Given the description of an element on the screen output the (x, y) to click on. 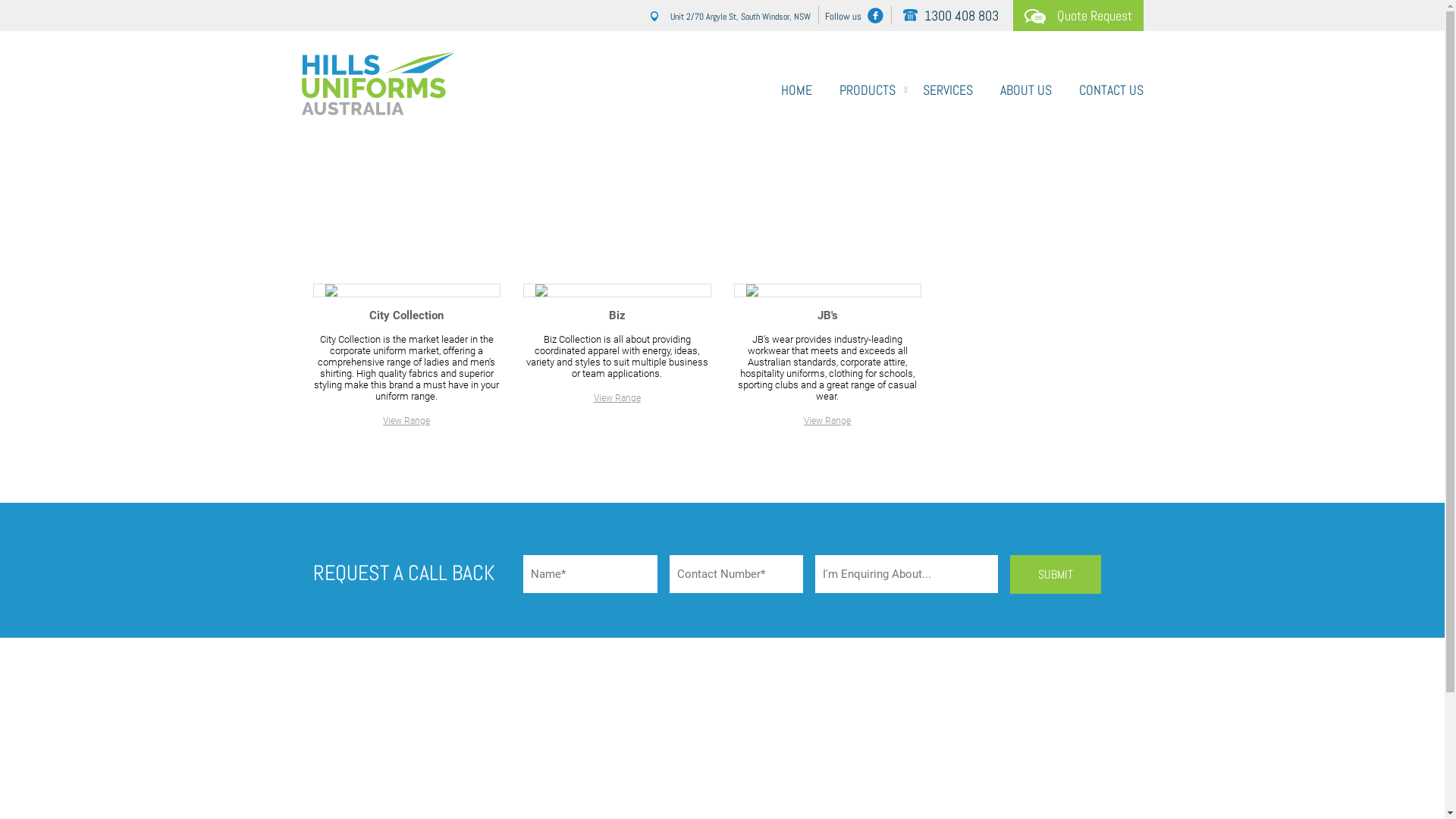
Follow us Element type: text (858, 15)
SERVICES Element type: text (947, 85)
1300 408 803 Element type: text (950, 15)
Unit 2/70 Argyle St, South Windsor, NSW Element type: text (732, 15)
View Range Element type: text (616, 397)
PRODUCTS Element type: text (866, 85)
Products Element type: text (639, 193)
ABOUT US Element type: text (1025, 85)
View Range Element type: text (405, 420)
Health & Hospitality Element type: text (705, 193)
Home Element type: text (601, 193)
Biz Element type: text (616, 315)
CONTACT US Element type: text (1104, 85)
JB's Element type: text (827, 315)
Submit Element type: text (1055, 574)
City Collection Element type: text (406, 315)
Quote Request Element type: text (1078, 15)
View Range Element type: text (826, 420)
HOME Element type: text (796, 85)
